Given the description of an element on the screen output the (x, y) to click on. 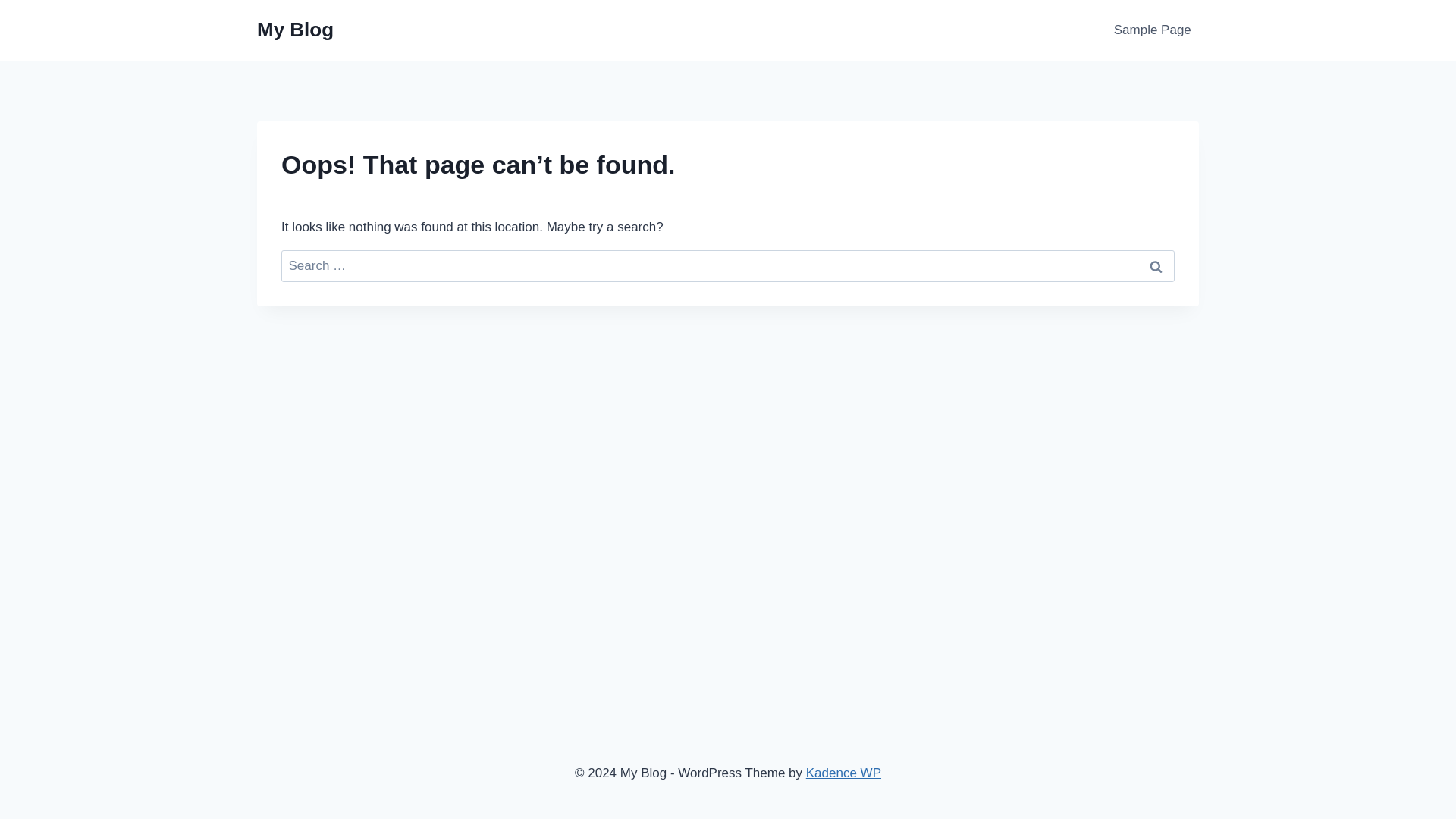
Search (1155, 266)
Search (1155, 266)
Search (1155, 266)
My Blog (295, 29)
Kadence WP (843, 772)
Sample Page (1152, 30)
